Given the description of an element on the screen output the (x, y) to click on. 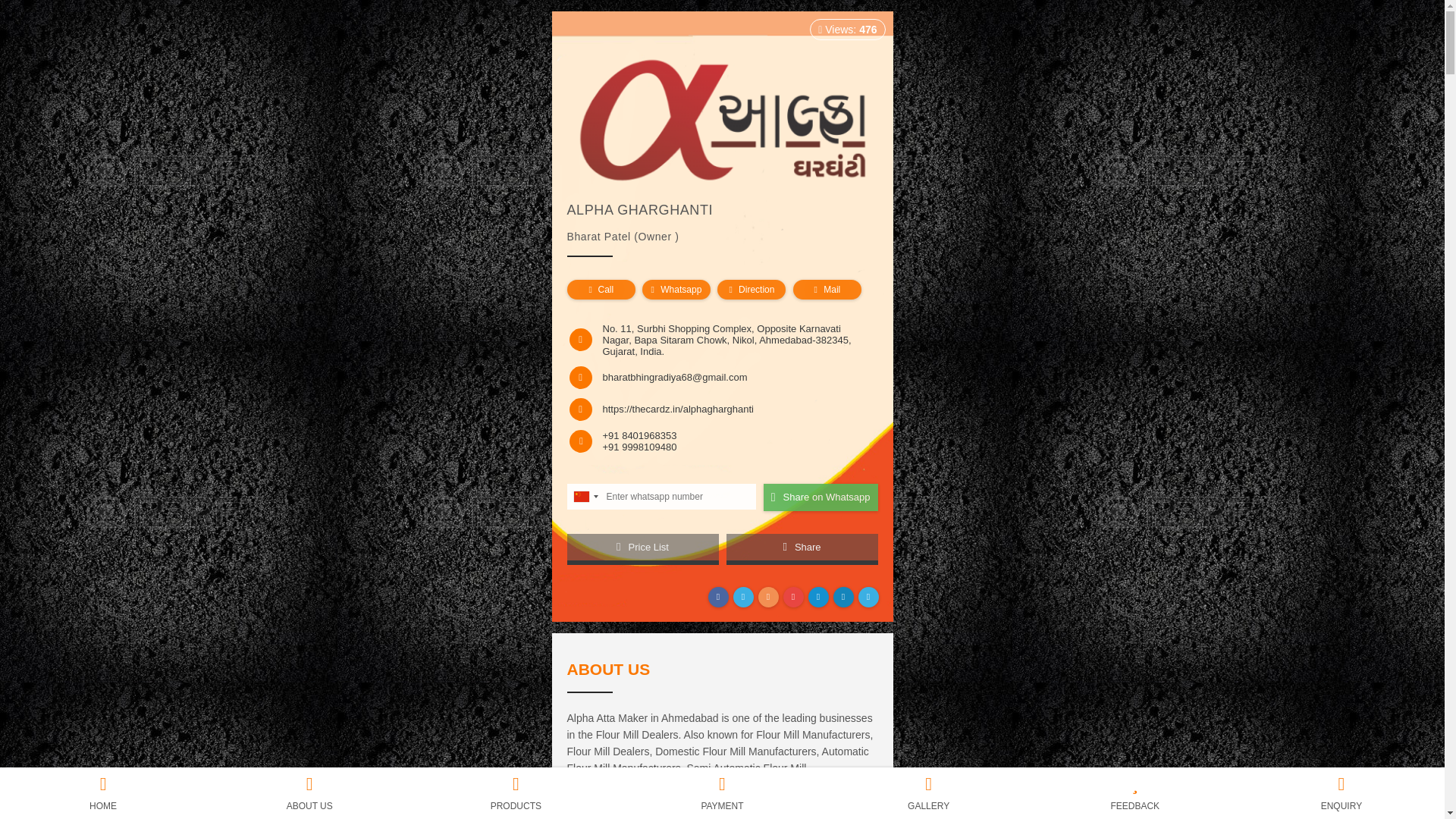
Direction (751, 289)
Call (600, 289)
Share (801, 549)
Mail (827, 289)
Whatsapp (676, 289)
HOME (103, 793)
Share on Whatsapp (819, 497)
Price List (643, 549)
